Given the description of an element on the screen output the (x, y) to click on. 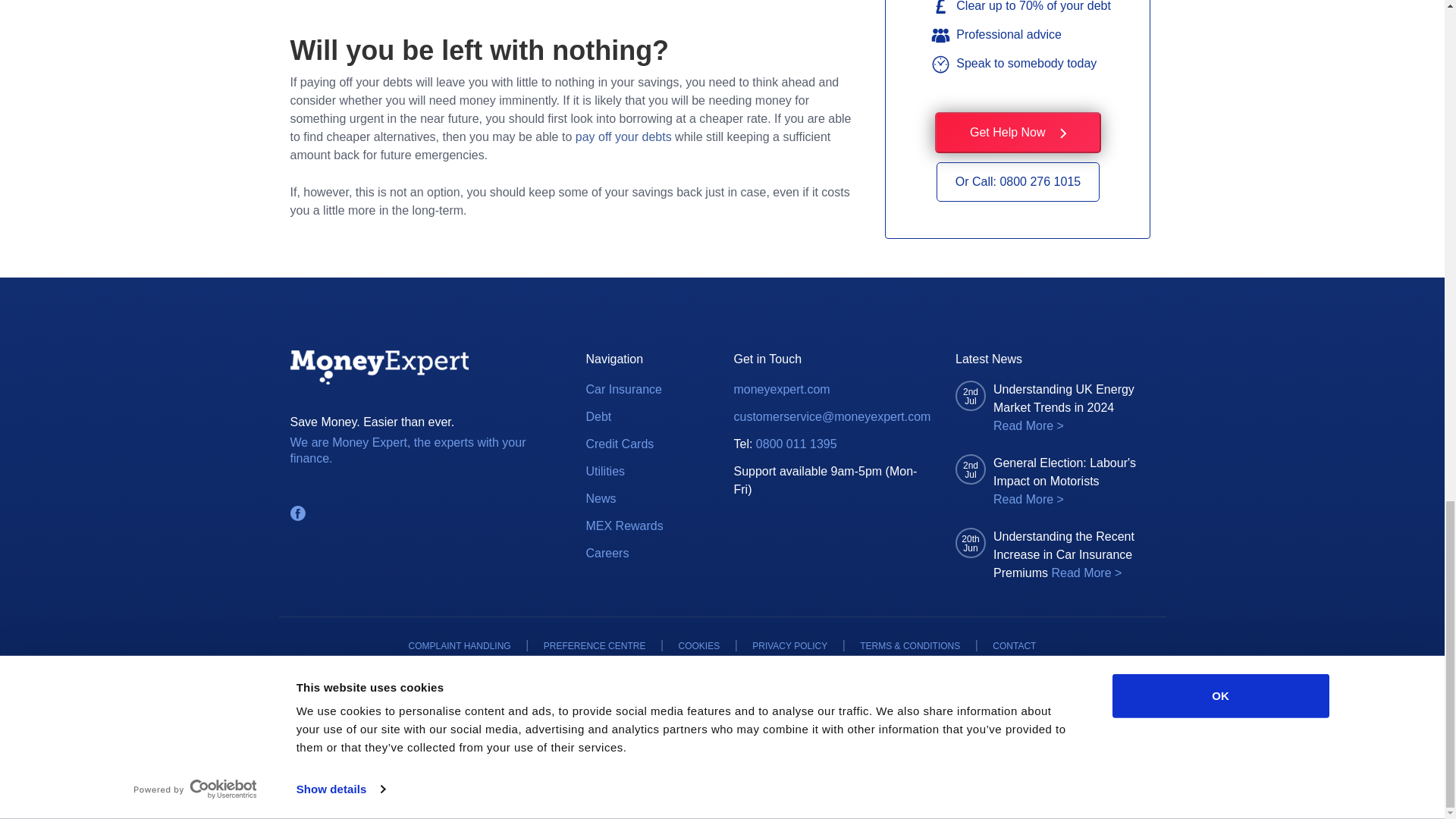
Rewards (606, 553)
Complaints (459, 645)
Credit Cards (619, 443)
Facebook Profile (296, 513)
Debt Management (598, 416)
Rewards (623, 525)
Preferences (595, 645)
Utilities (604, 471)
Cookies (699, 645)
Car Insurance (623, 389)
